Given the description of an element on the screen output the (x, y) to click on. 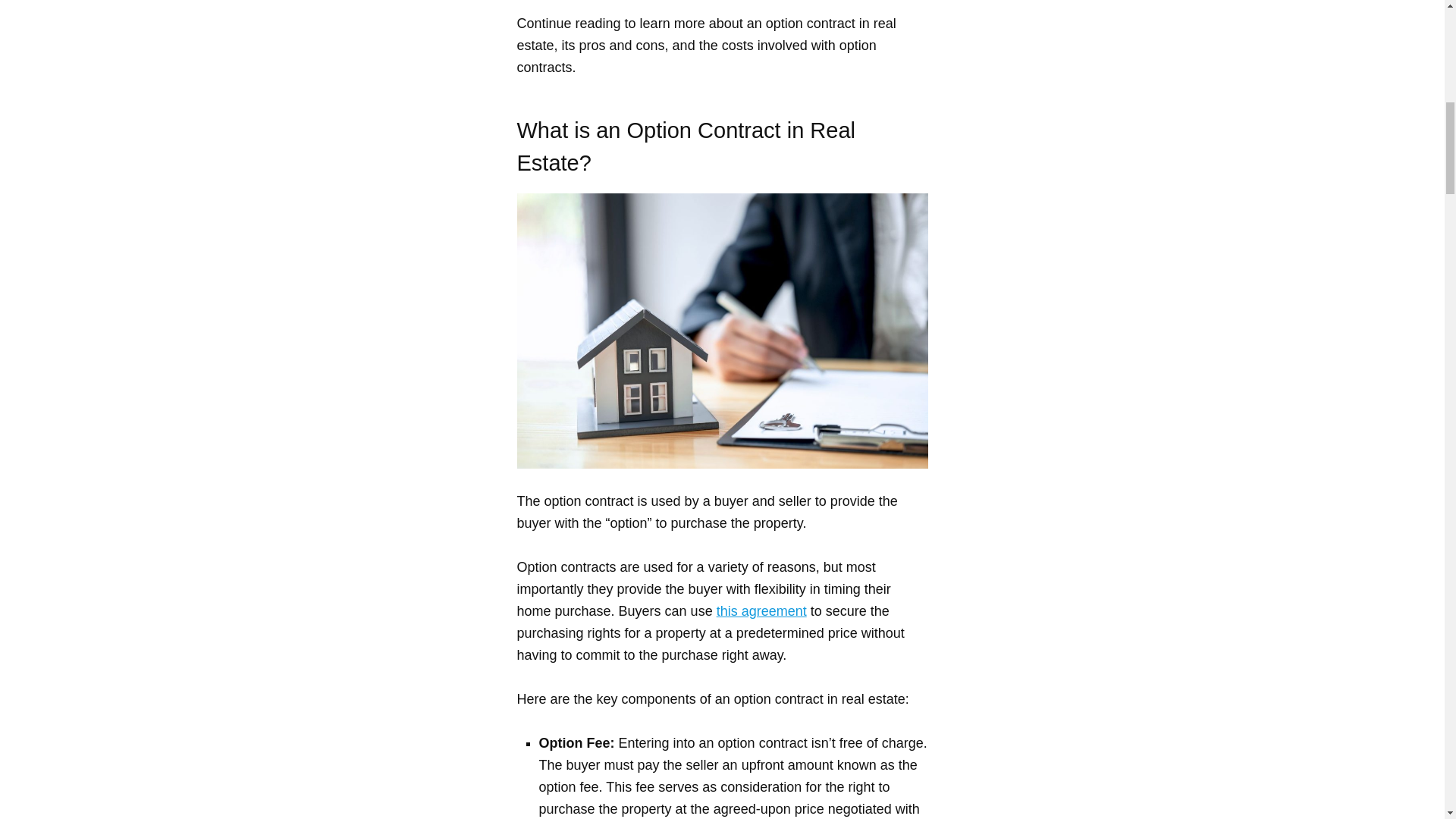
this agreement (761, 611)
